Given the description of an element on the screen output the (x, y) to click on. 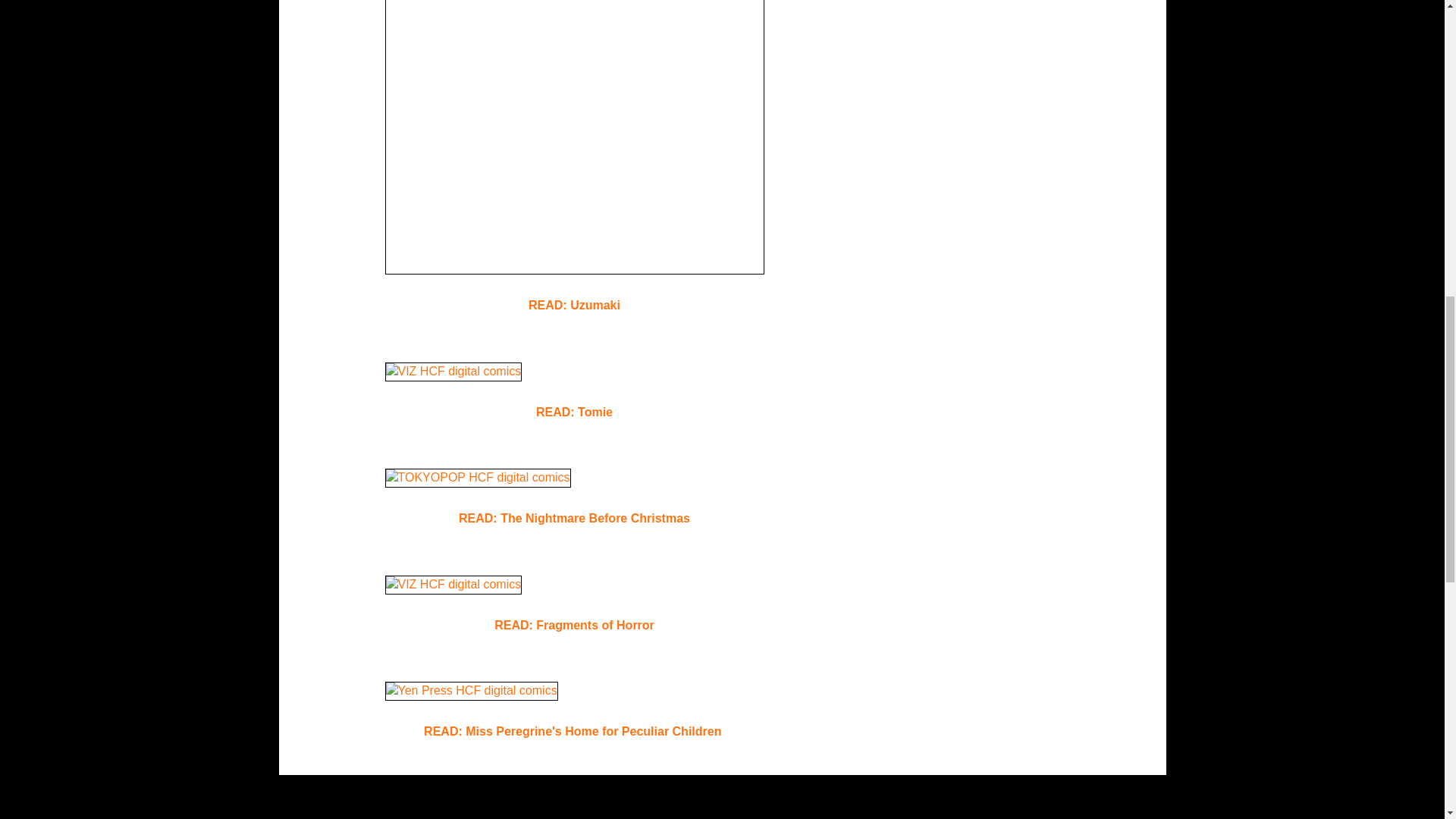
READ: Fragments of Horror (574, 625)
READ: Tomie (573, 411)
READ: The Nightmare Before Christmas (574, 517)
READ: Uzumaki (574, 305)
